Given the description of an element on the screen output the (x, y) to click on. 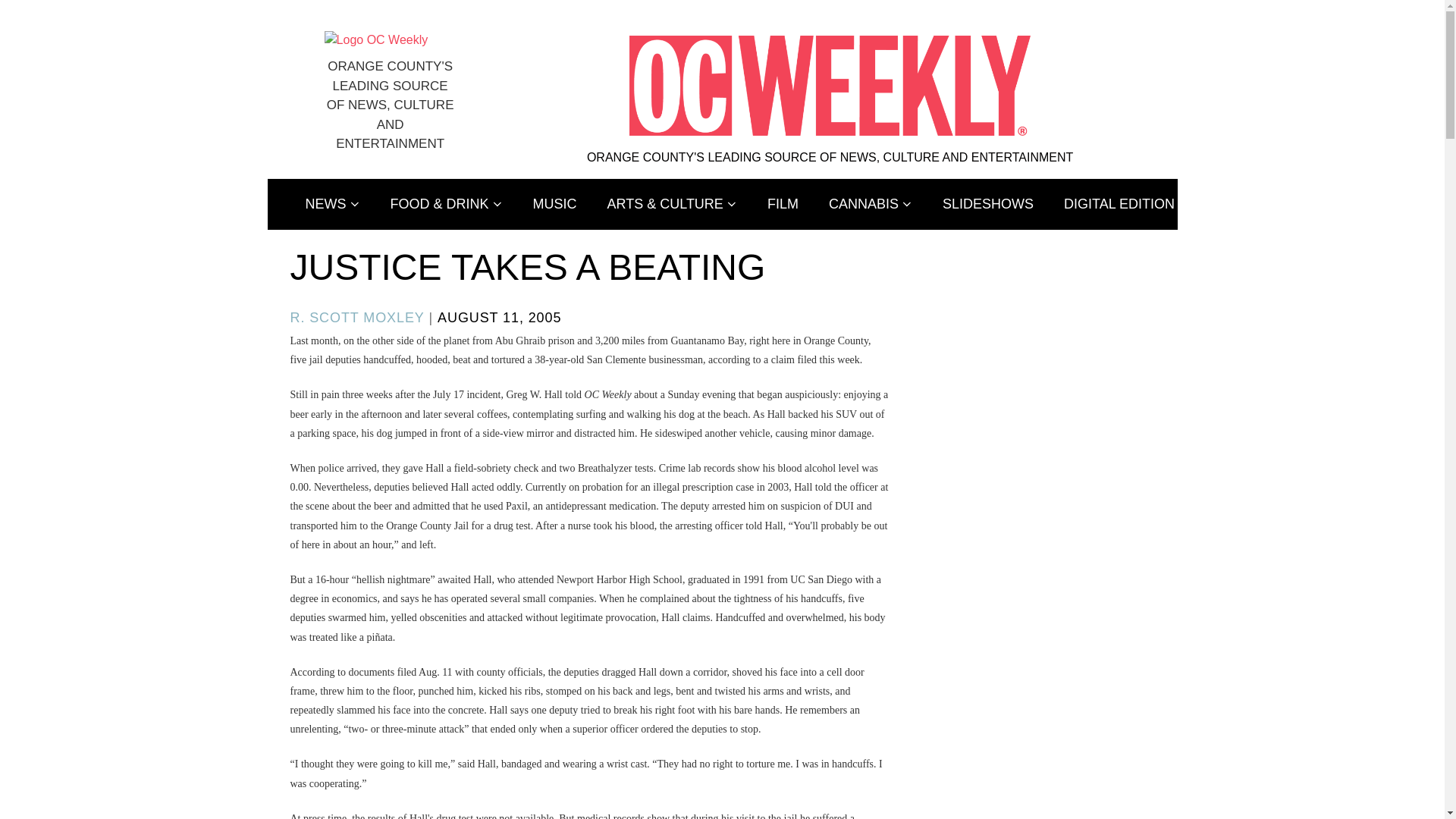
News (331, 204)
CANNABIS (870, 204)
NEWS (331, 204)
MUSIC (555, 204)
FILM (782, 204)
OC Weekly (376, 39)
